Given the description of an element on the screen output the (x, y) to click on. 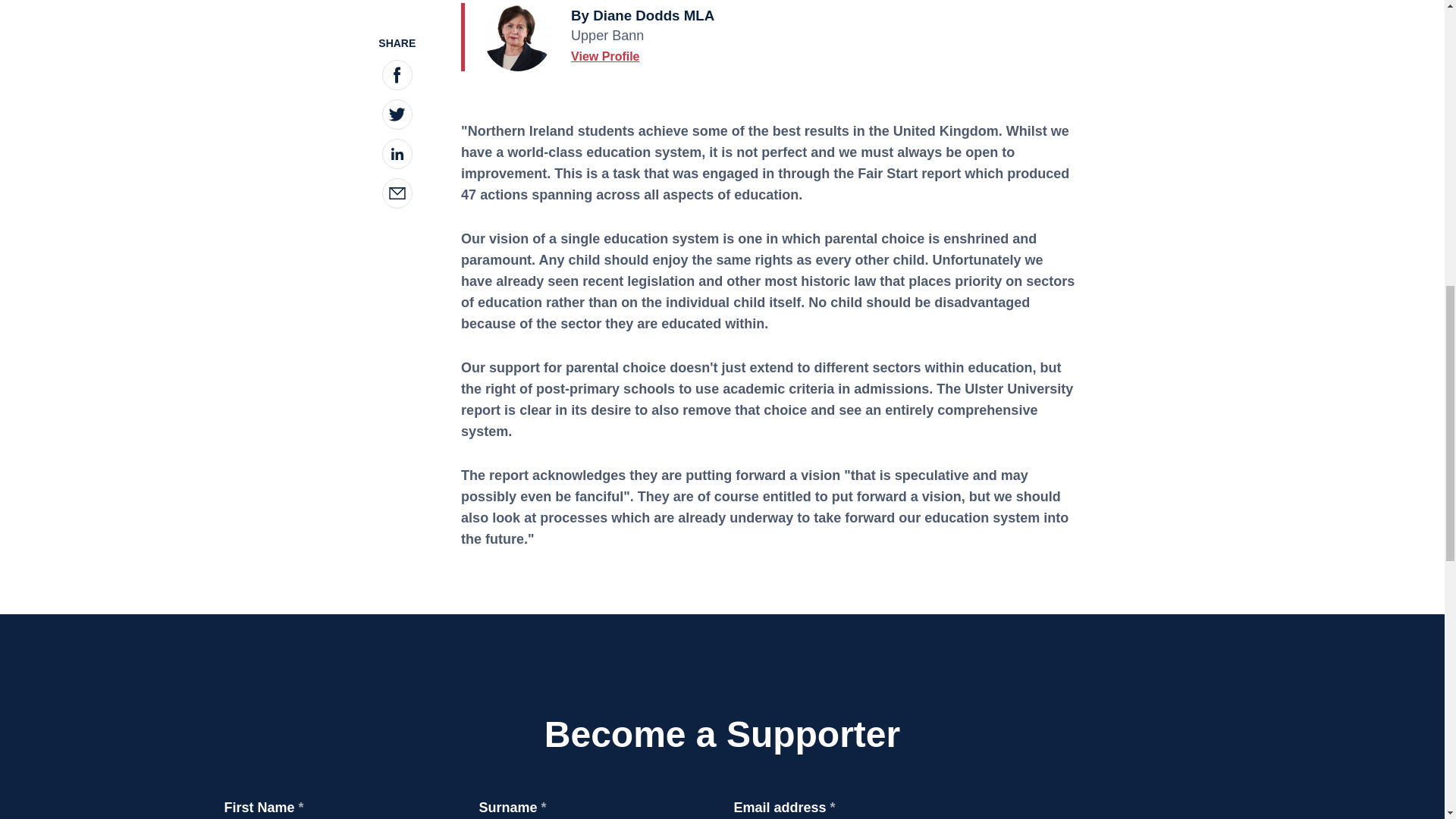
LINKEDIN (396, 119)
EMAIL (396, 159)
EMAIL (396, 158)
FACEBOOK (396, 40)
FACEBOOK (396, 40)
View Profile (604, 56)
TWITTER (396, 79)
TWITTER (396, 80)
LINKEDIN (396, 119)
